Given the description of an element on the screen output the (x, y) to click on. 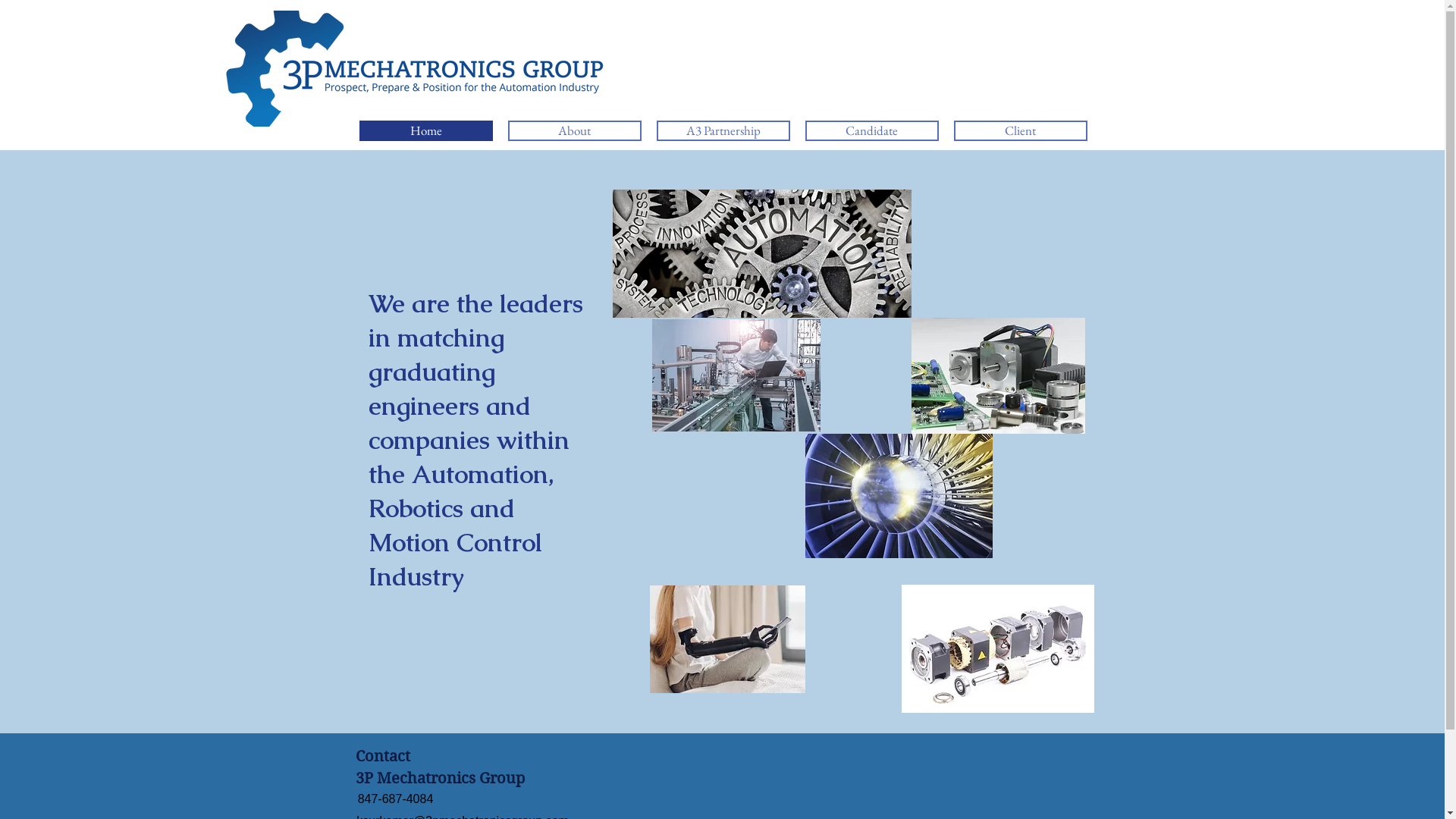
testing.jpg Element type: hover (736, 375)
robotic prosthetic.jpg Element type: hover (726, 639)
3PMechatronicsLogo.PNG Element type: hover (418, 68)
Candidate Element type: text (871, 130)
motors.jpg Element type: hover (998, 375)
Home Element type: text (425, 130)
A3 Partnership Element type: text (723, 130)
New 3P Logo.png Element type: hover (270, 76)
stepper motor.jpg Element type: hover (996, 648)
jet.jpg Element type: hover (898, 495)
About Element type: text (574, 130)
automation.jpg Element type: hover (761, 253)
Client Element type: text (1020, 130)
